Given the description of an element on the screen output the (x, y) to click on. 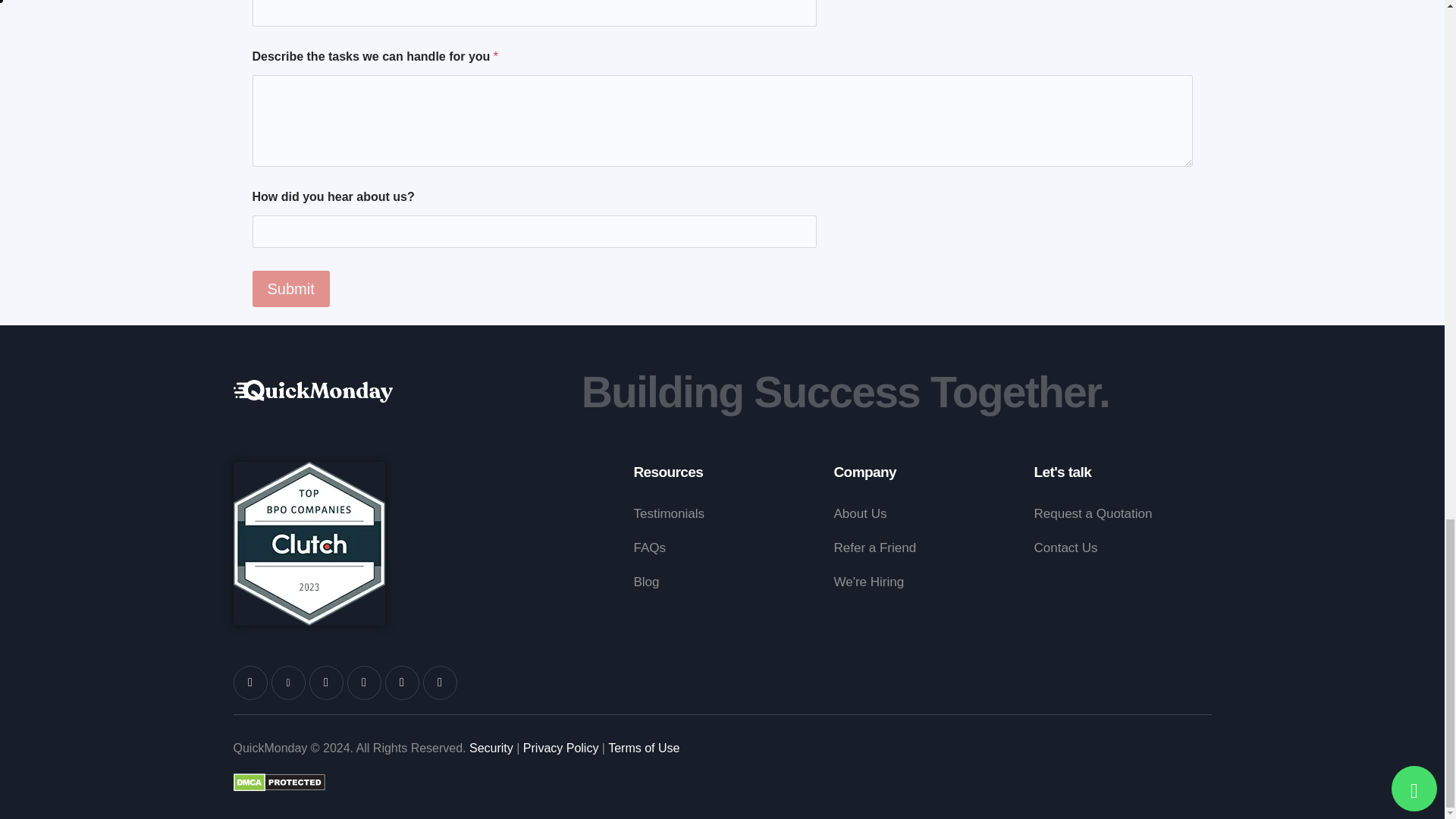
DMCA.com Protection Status (278, 785)
